Given the description of an element on the screen output the (x, y) to click on. 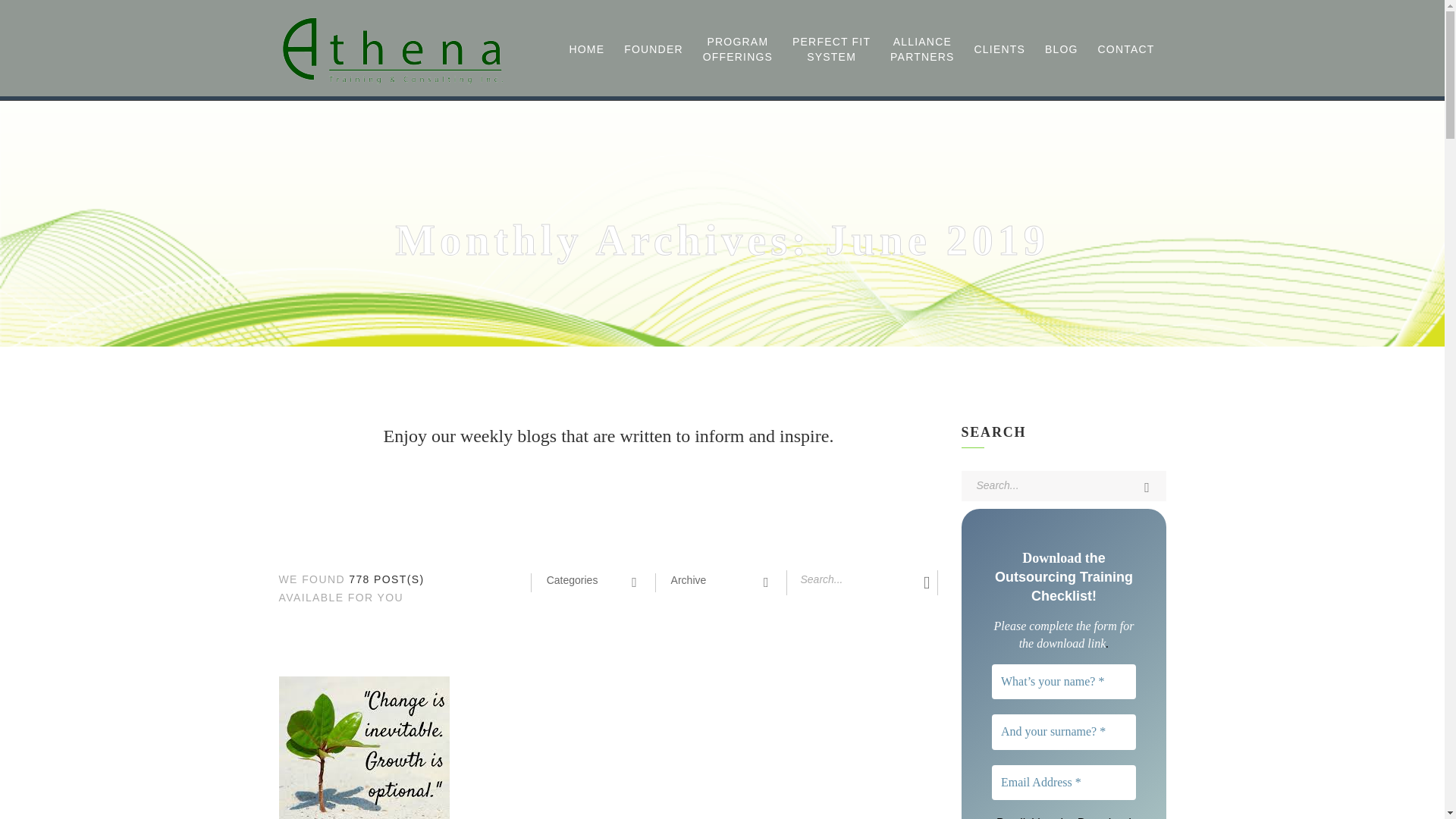
CONTACT (1126, 47)
CLIENTS (1000, 47)
FOUNDER (653, 47)
Search... (831, 48)
Search... (849, 579)
